Given the description of an element on the screen output the (x, y) to click on. 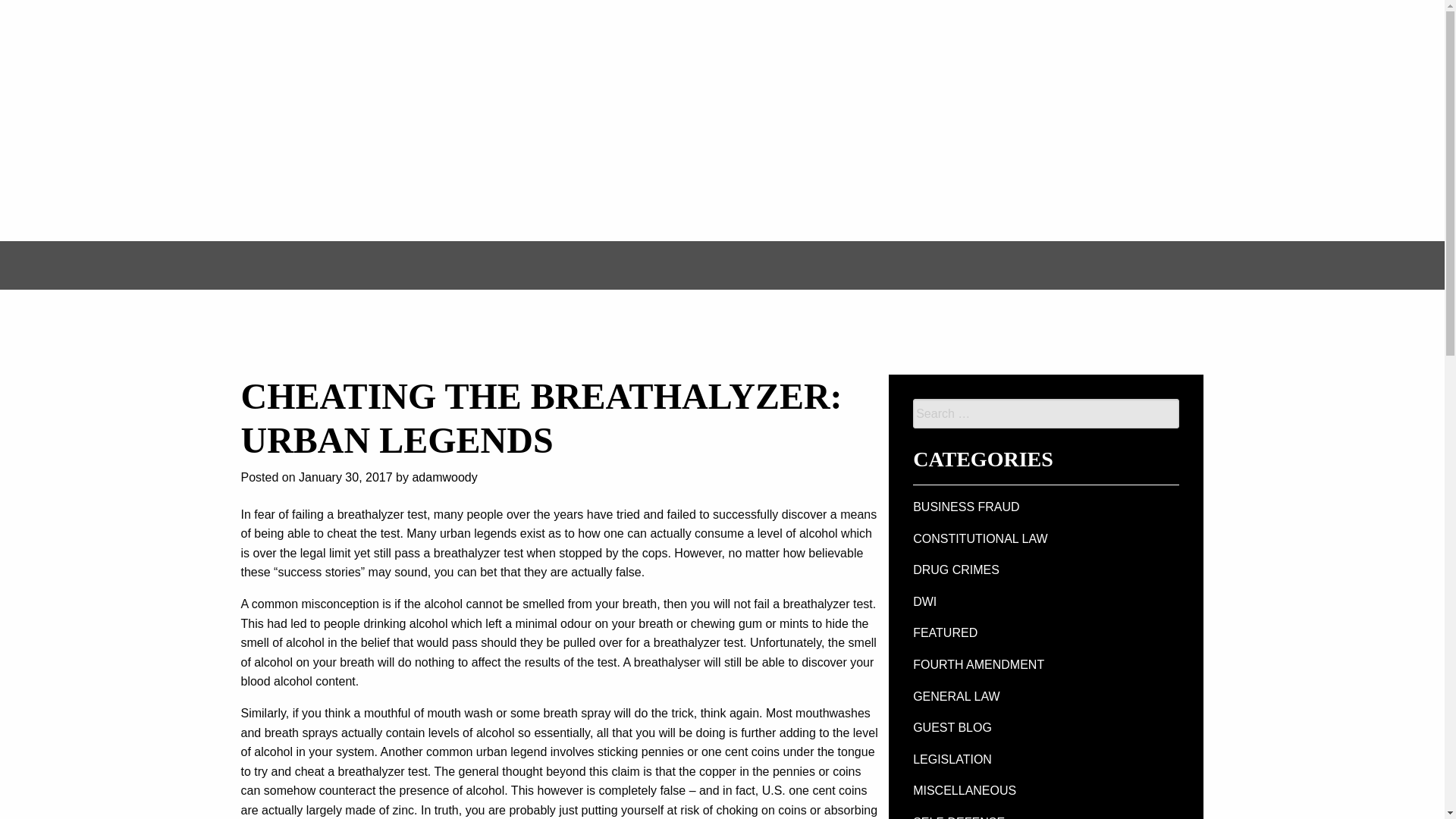
DWI (924, 601)
January 30, 2017 (345, 477)
CONSTITUTIONAL LAW (980, 538)
FOURTH AMENDMENT (977, 664)
DRUG CRIMES (955, 569)
BUSINESS FRAUD (965, 506)
GENERAL LAW (955, 696)
adamwoody (444, 477)
FEATURED (944, 632)
